Given the description of an element on the screen output the (x, y) to click on. 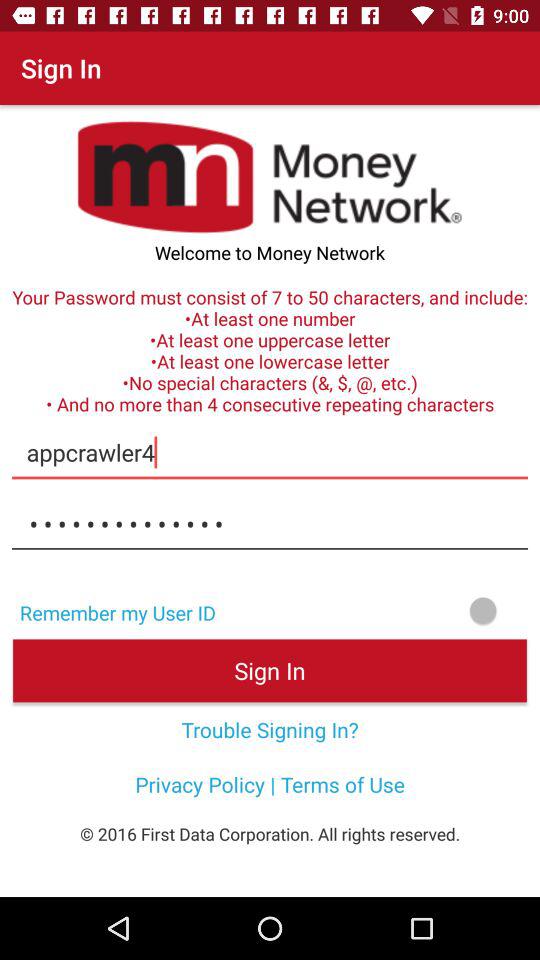
tap the item on the right (384, 610)
